Given the description of an element on the screen output the (x, y) to click on. 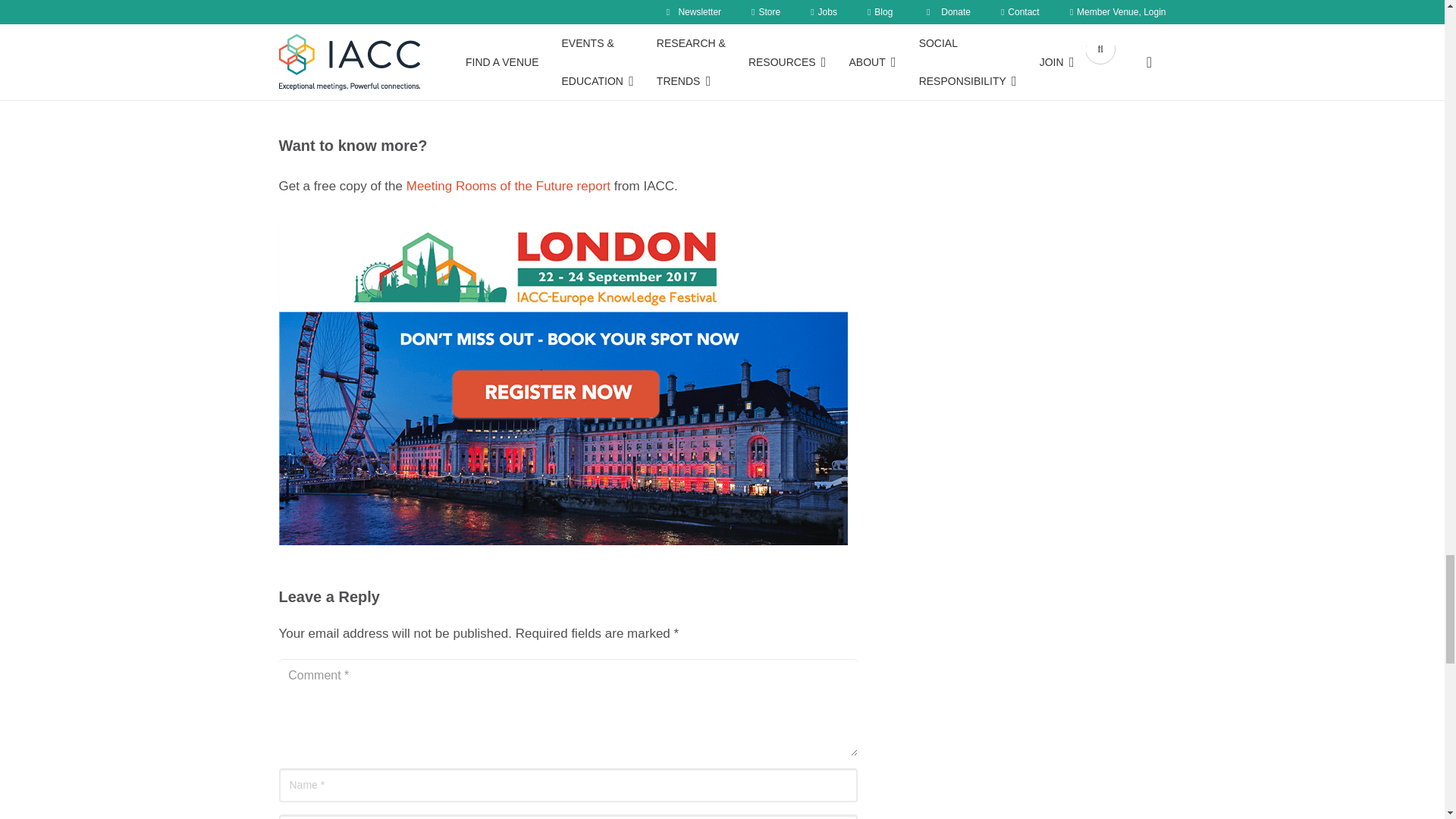
Meeting Room of the Future Report (508, 186)
